Given the description of an element on the screen output the (x, y) to click on. 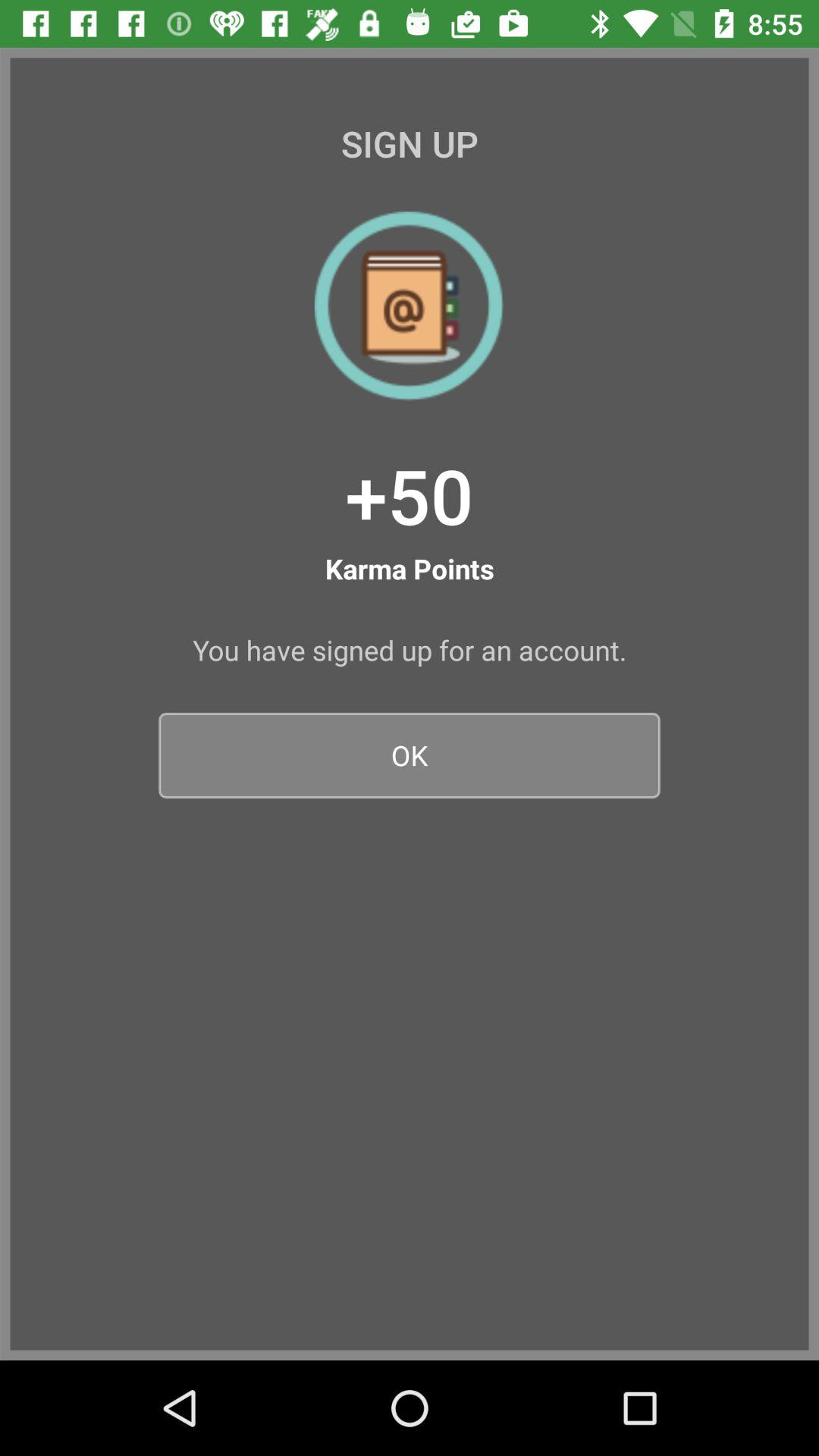
launch the icon below the you have signed (409, 755)
